Given the description of an element on the screen output the (x, y) to click on. 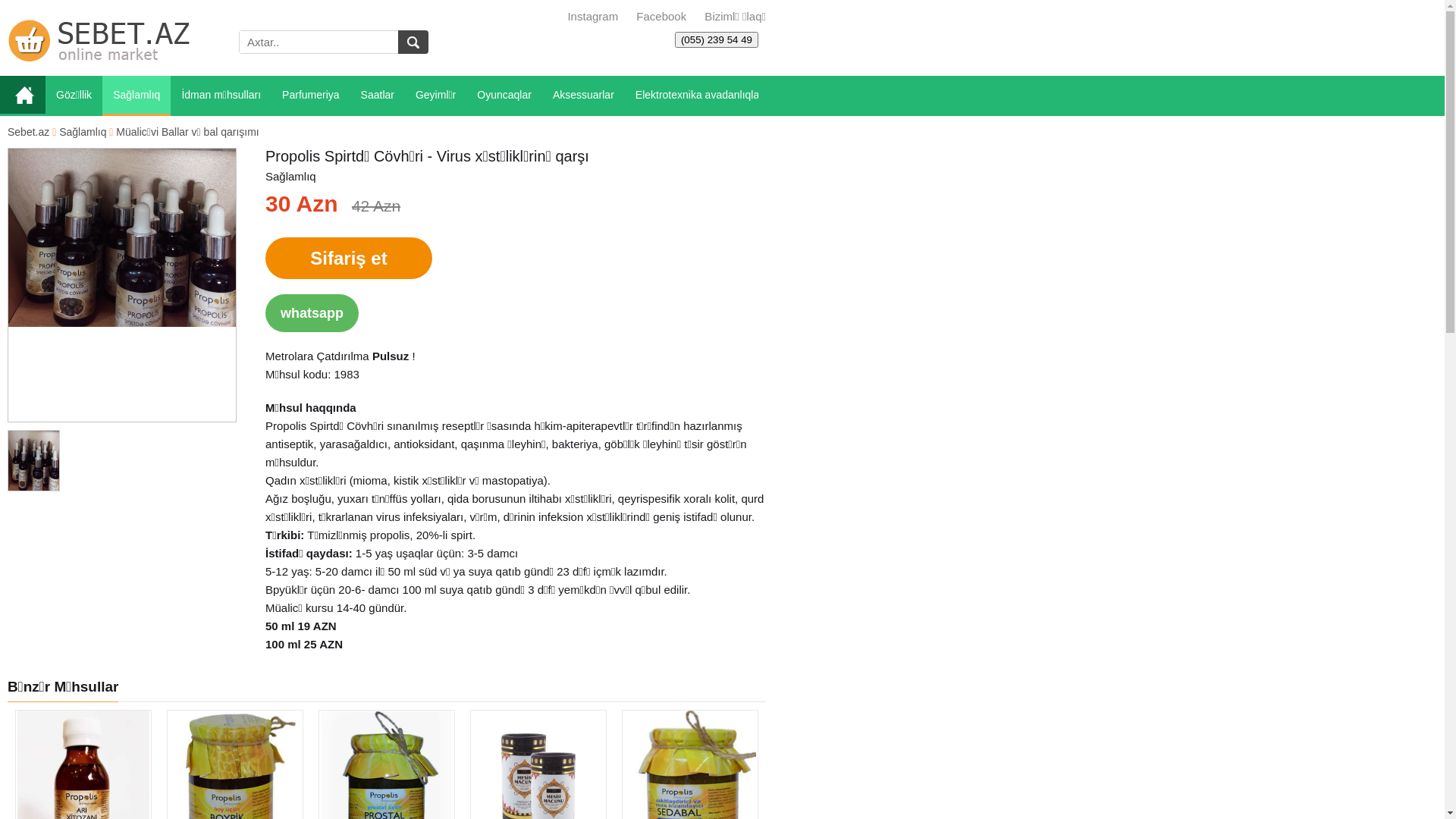
(055) 239 54 49 Element type: text (716, 39)
  Element type: text (413, 41)
Sebet.az Element type: text (28, 131)
Saatlar Element type: text (377, 95)
Facebook Element type: text (659, 15)
Aksessuarlar Element type: text (583, 95)
(055) 239 54 49 Element type: text (716, 38)
whatsapp Element type: text (311, 313)
Oyuncaqlar Element type: text (504, 95)
Instagram Element type: text (592, 15)
Parfumeriya Element type: text (310, 95)
